Given the description of an element on the screen output the (x, y) to click on. 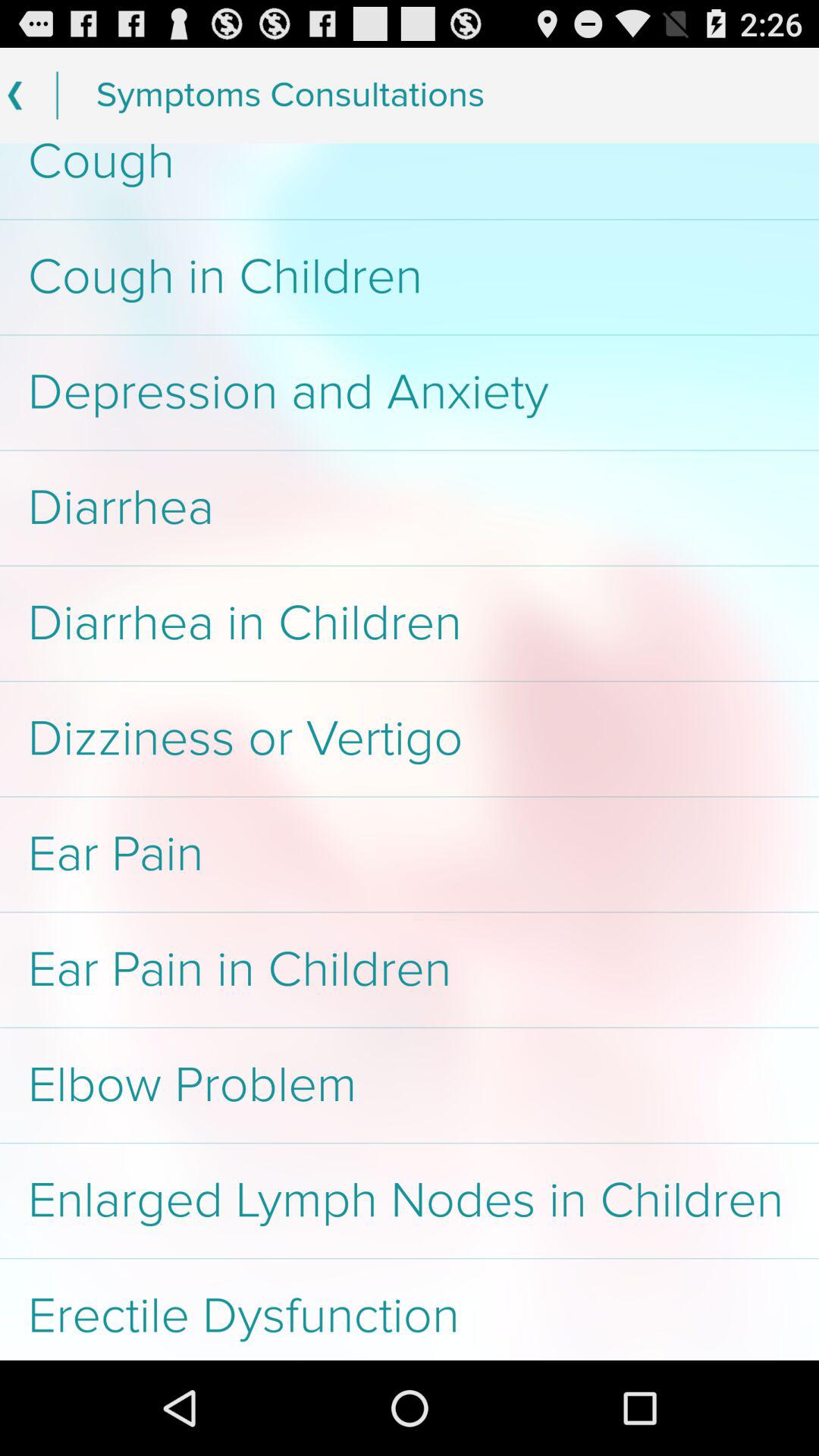
open the elbow problem icon (409, 1085)
